Given the description of an element on the screen output the (x, y) to click on. 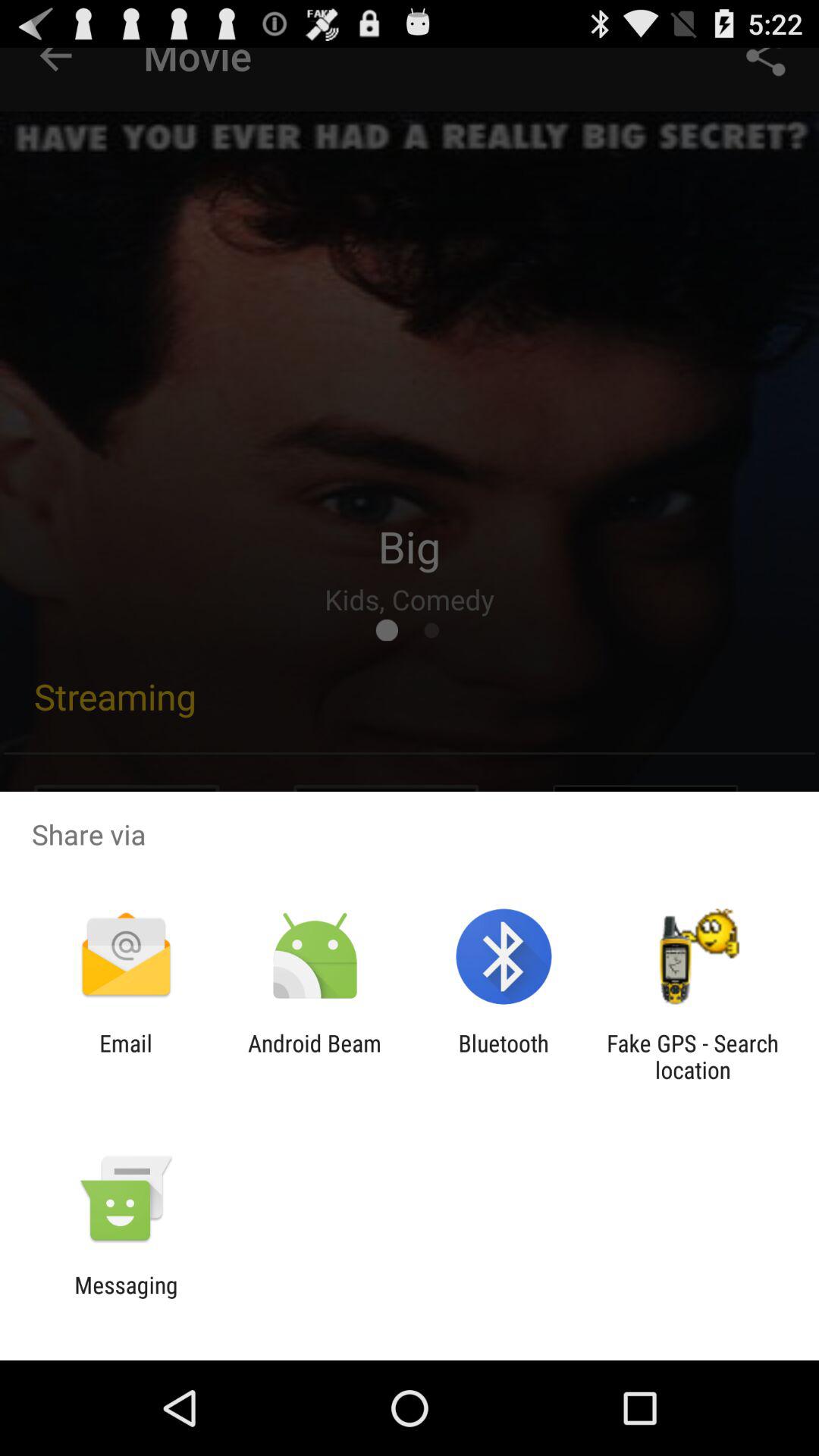
tap the app next to bluetooth icon (692, 1056)
